Given the description of an element on the screen output the (x, y) to click on. 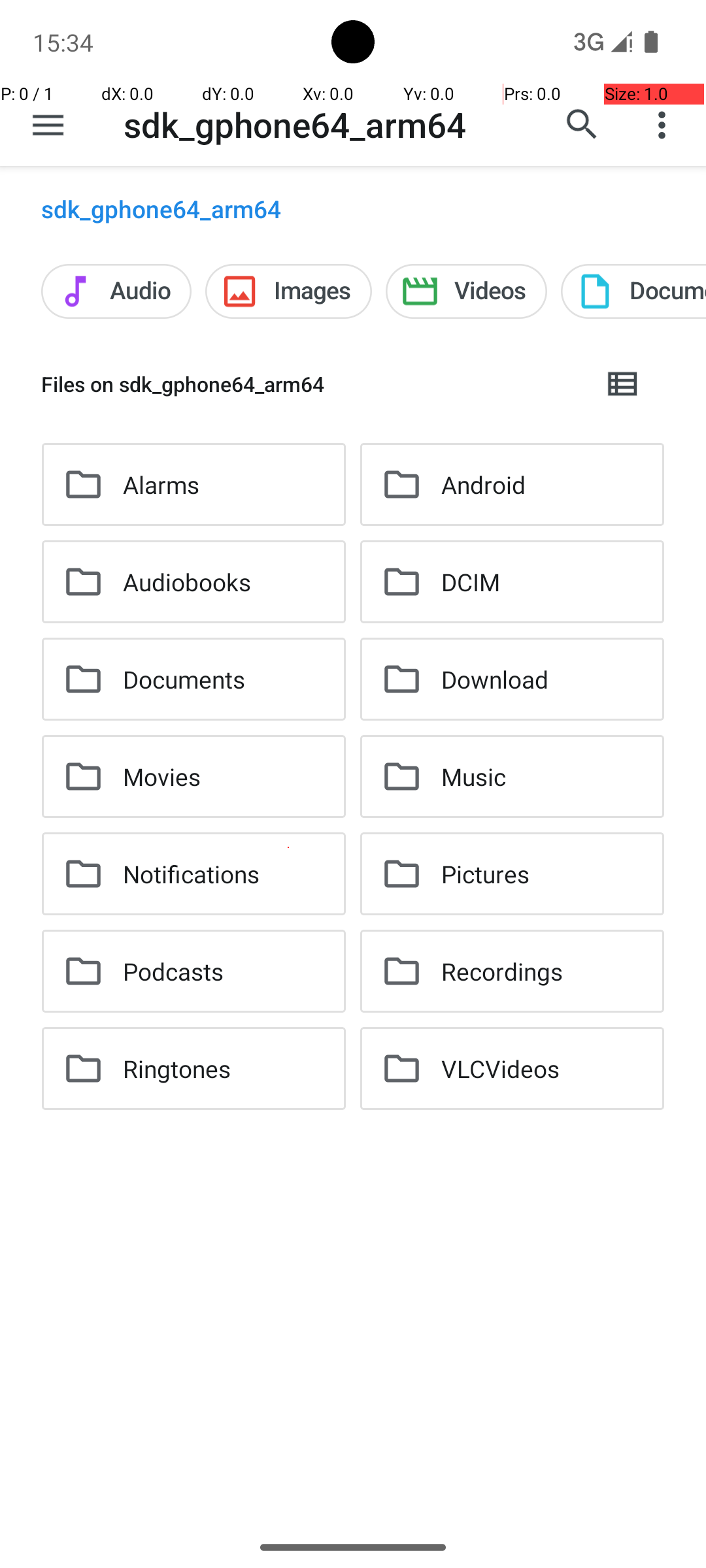
sdk_gphone64_arm64 Element type: android.widget.TextView (294, 124)
Files on sdk_gphone64_arm64 Element type: android.widget.TextView (311, 383)
Alarms Element type: android.widget.TextView (160, 484)
Android Element type: android.widget.TextView (483, 484)
Audiobooks Element type: android.widget.TextView (186, 581)
DCIM Element type: android.widget.TextView (470, 581)
Download Element type: android.widget.TextView (494, 678)
Movies Element type: android.widget.TextView (161, 776)
Music Element type: android.widget.TextView (473, 776)
Notifications Element type: android.widget.TextView (190, 873)
Pictures Element type: android.widget.TextView (485, 873)
Podcasts Element type: android.widget.TextView (172, 970)
Recordings Element type: android.widget.TextView (501, 970)
Ringtones Element type: android.widget.TextView (176, 1068)
VLCVideos Element type: android.widget.TextView (500, 1068)
